Given the description of an element on the screen output the (x, y) to click on. 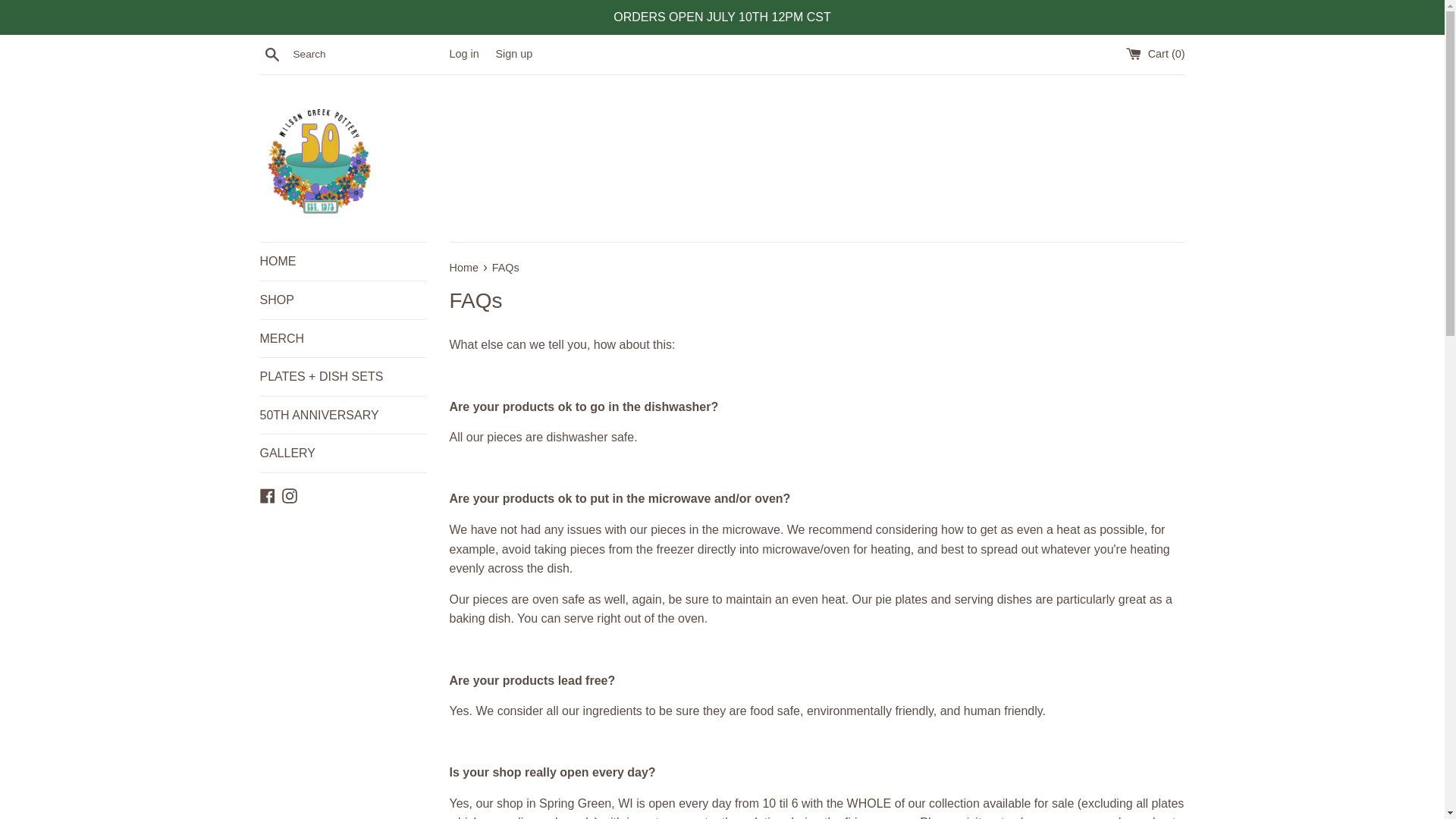
Log in (463, 53)
GALLERY (342, 453)
Search (271, 53)
Back to the frontpage (464, 267)
SHOP (342, 300)
HOME (342, 261)
Sign up (513, 53)
Facebook (267, 494)
MERCH (342, 338)
Instagram (289, 494)
Home (464, 267)
Wilson Creek Pottery on Facebook (267, 494)
50TH ANNIVERSARY (342, 415)
Wilson Creek Pottery on Instagram (289, 494)
Submit (721, 259)
